Given the description of an element on the screen output the (x, y) to click on. 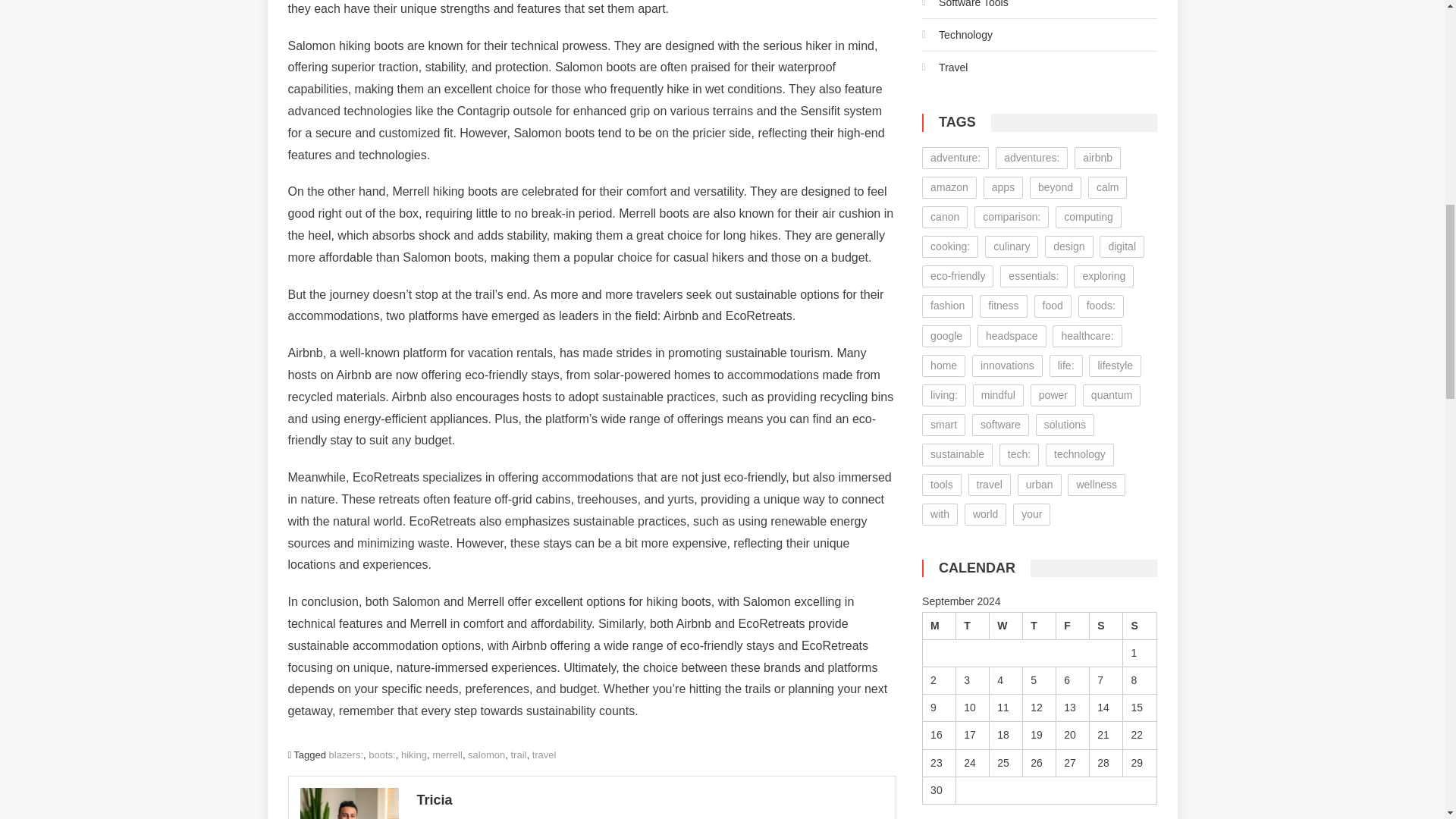
Monday (939, 625)
Saturday (1105, 625)
Wednesday (1006, 625)
boots: (381, 754)
blazers: (346, 754)
salomon (486, 754)
Tricia (649, 799)
hiking (413, 754)
trail (518, 754)
Sunday (1139, 625)
